Given the description of an element on the screen output the (x, y) to click on. 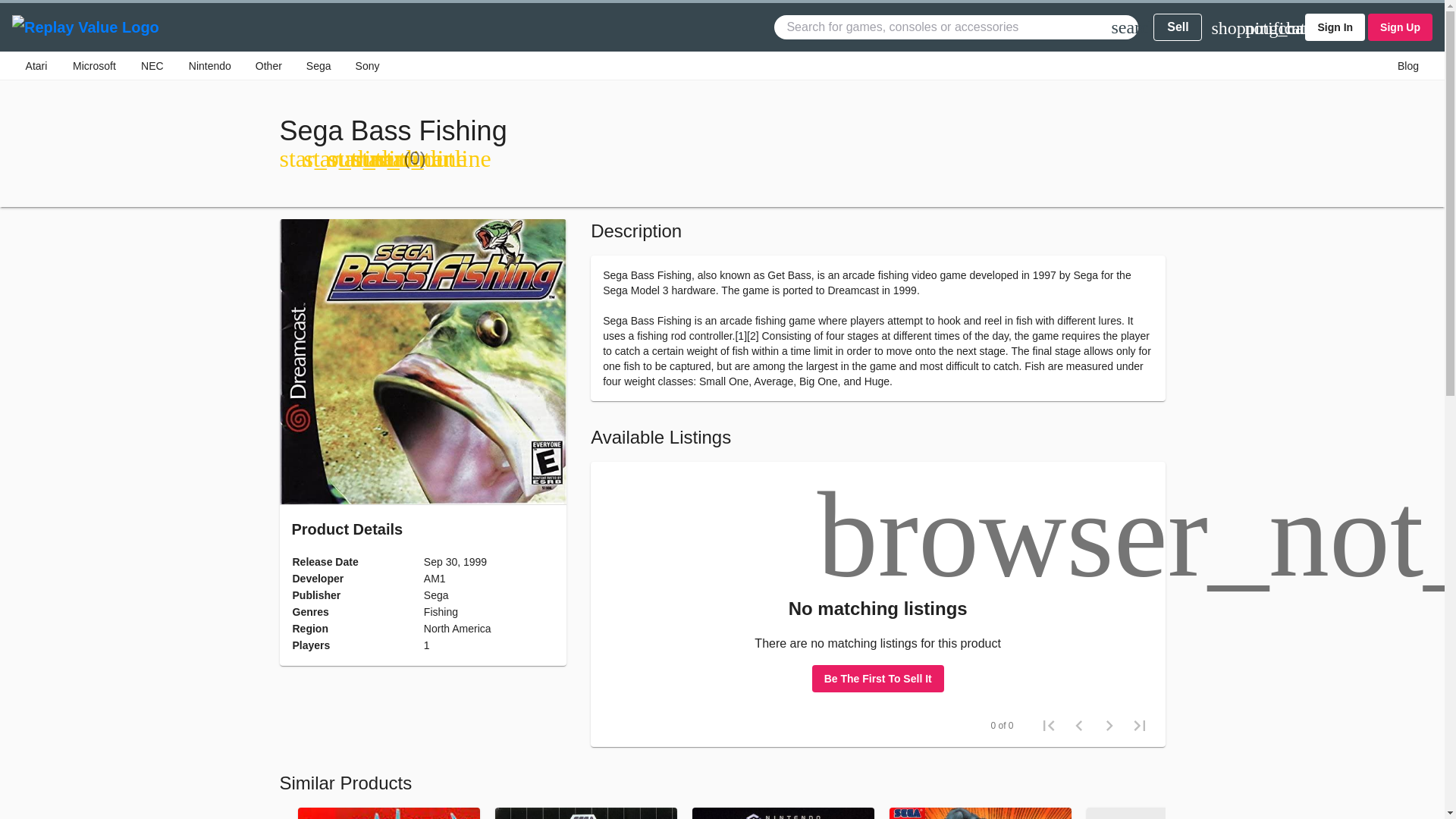
Atari (36, 65)
Sony (367, 65)
Microsoft (94, 65)
Sega (318, 65)
notifications (1253, 27)
chat (1286, 27)
Sign Up (1400, 26)
Blog (1408, 65)
Other (268, 65)
Sign In (1334, 26)
